Given the description of an element on the screen output the (x, y) to click on. 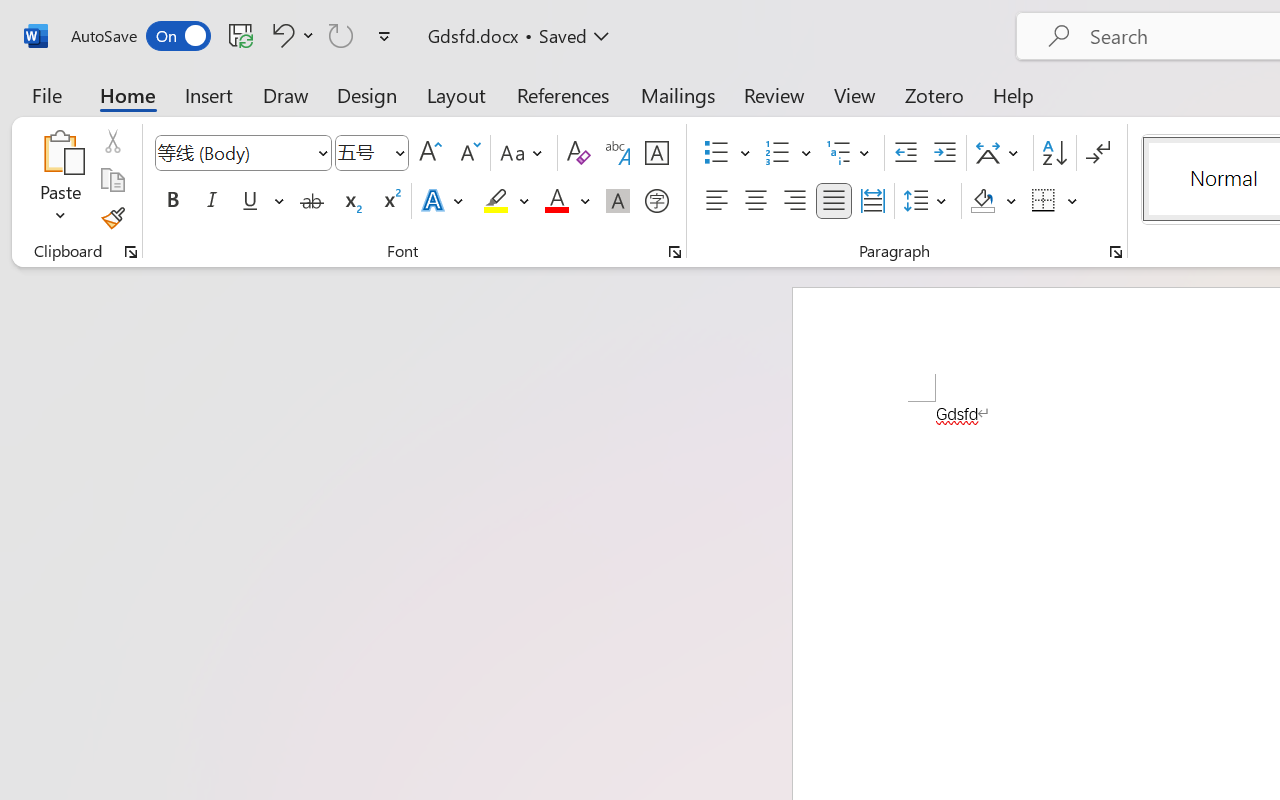
Undo Apply Quick Style (280, 35)
